Given the description of an element on the screen output the (x, y) to click on. 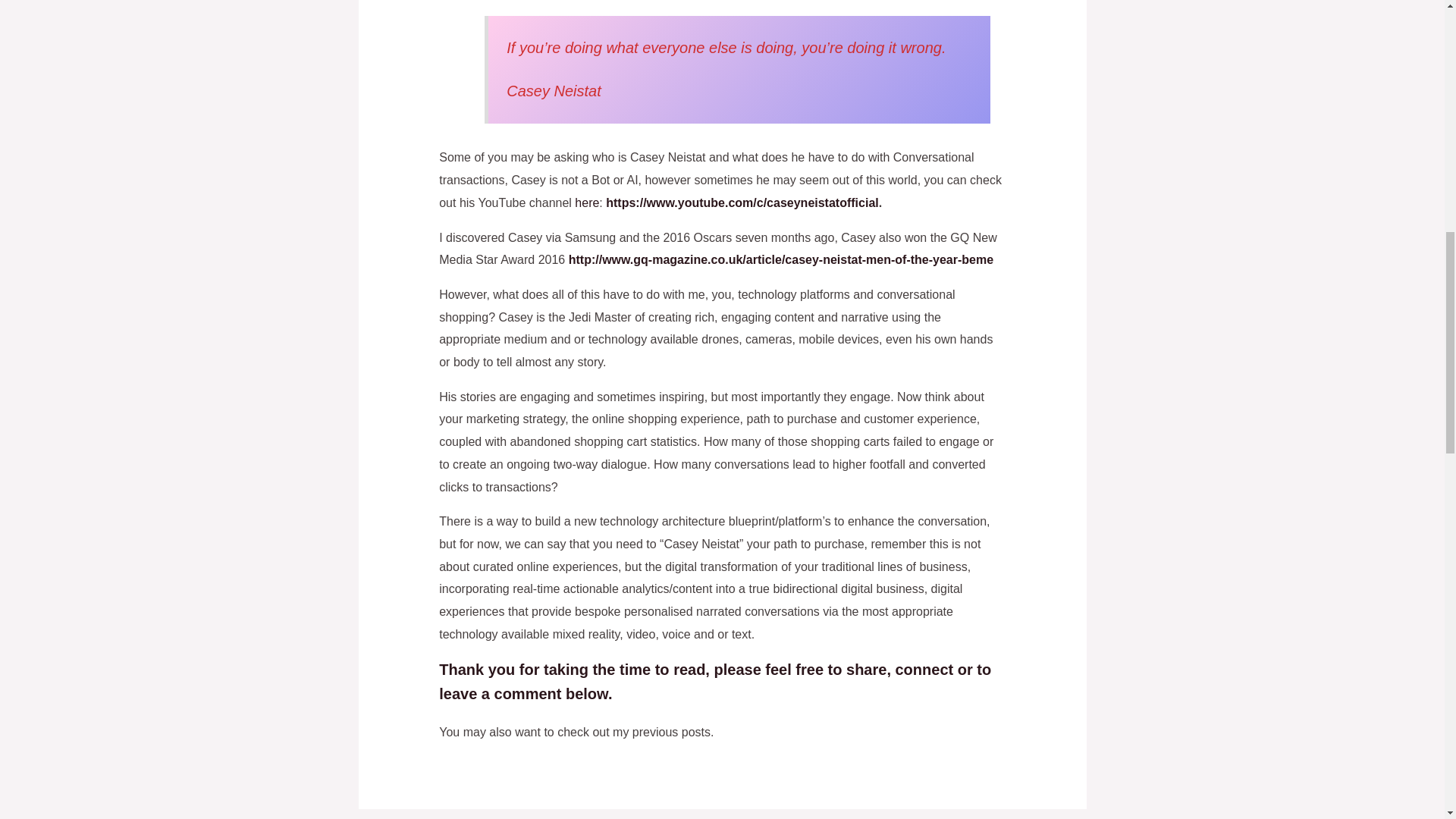
here (586, 202)
